Given the description of an element on the screen output the (x, y) to click on. 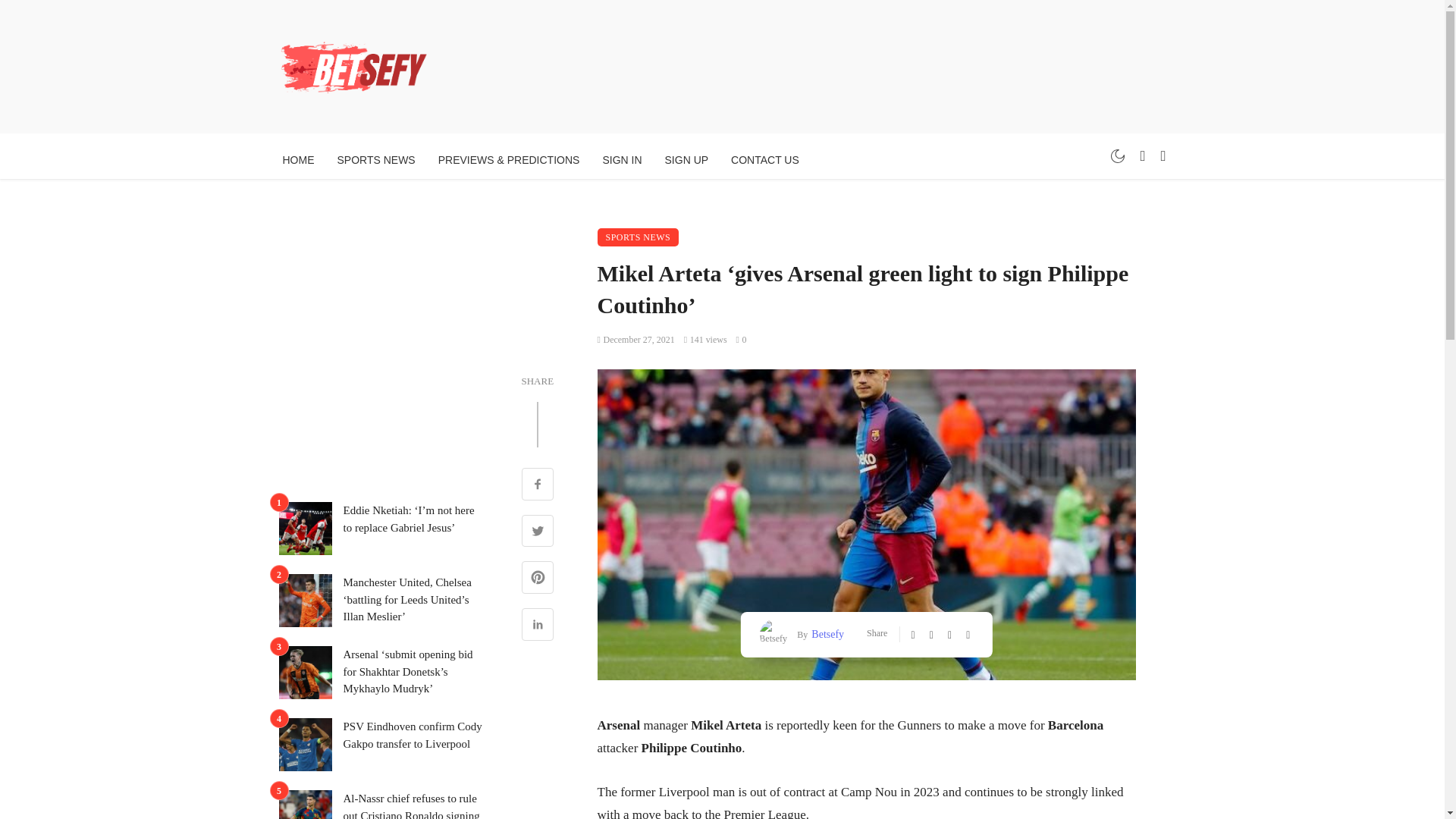
Posts by Betsefy (826, 634)
HOME (298, 159)
SIGN IN (621, 159)
Share on Pinterest (537, 579)
SPORTS NEWS (637, 237)
0 Comments (741, 339)
SIGN UP (686, 159)
0 (741, 339)
Share on Linkedin (537, 626)
December 27, 2021 at 6:30 pm (635, 339)
SPORTS NEWS (376, 159)
Share on Twitter (537, 533)
Share on Facebook (537, 485)
Betsefy (826, 634)
CONTACT US (764, 159)
